Given the description of an element on the screen output the (x, y) to click on. 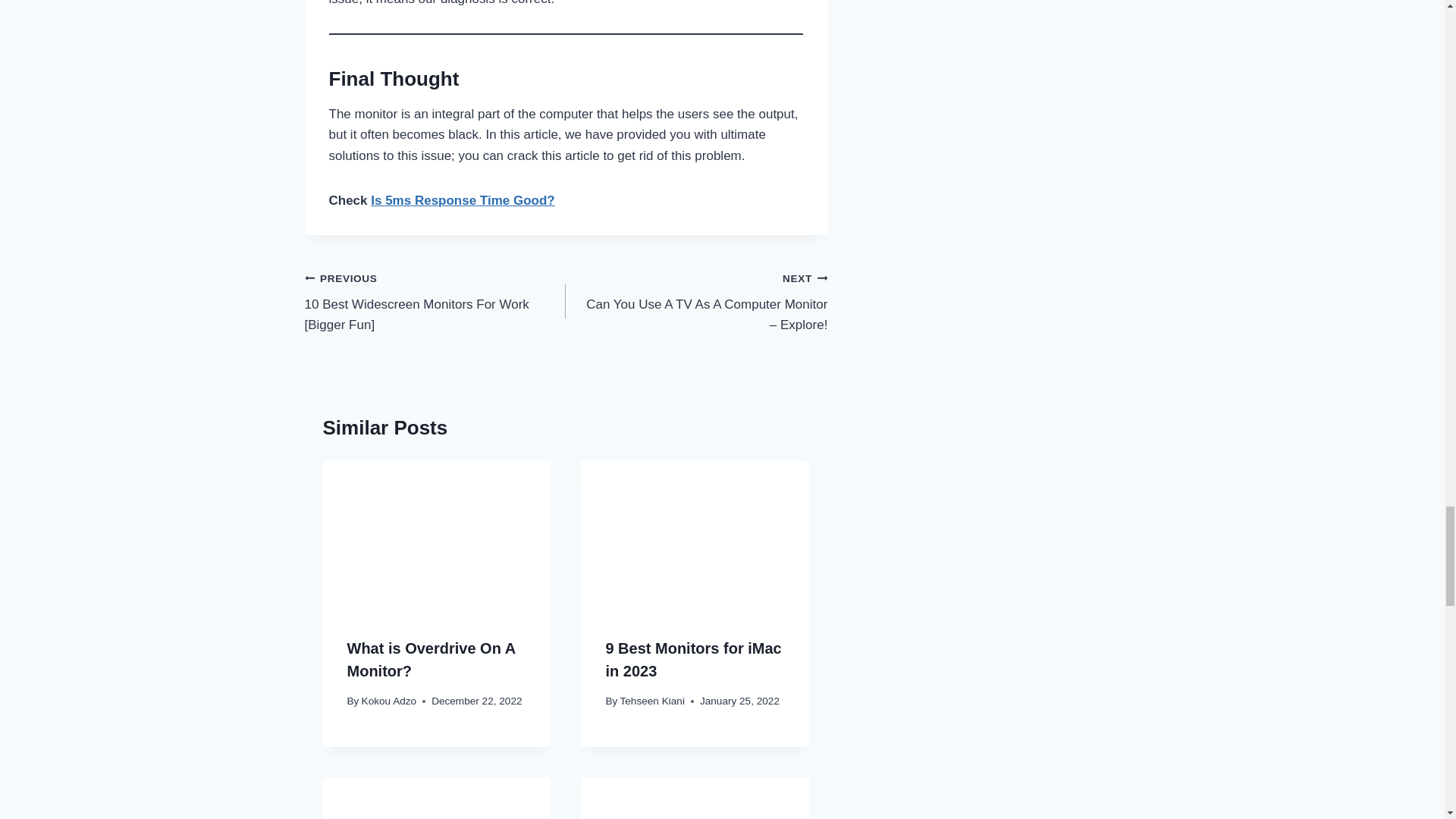
9 Best Monitors for iMac in 2023 (692, 659)
Kokou Adzo (388, 700)
What is Overdrive On A Monitor? (431, 659)
Tehseen Kiani (652, 700)
Is 5ms Response Time Good? (462, 200)
